Given the description of an element on the screen output the (x, y) to click on. 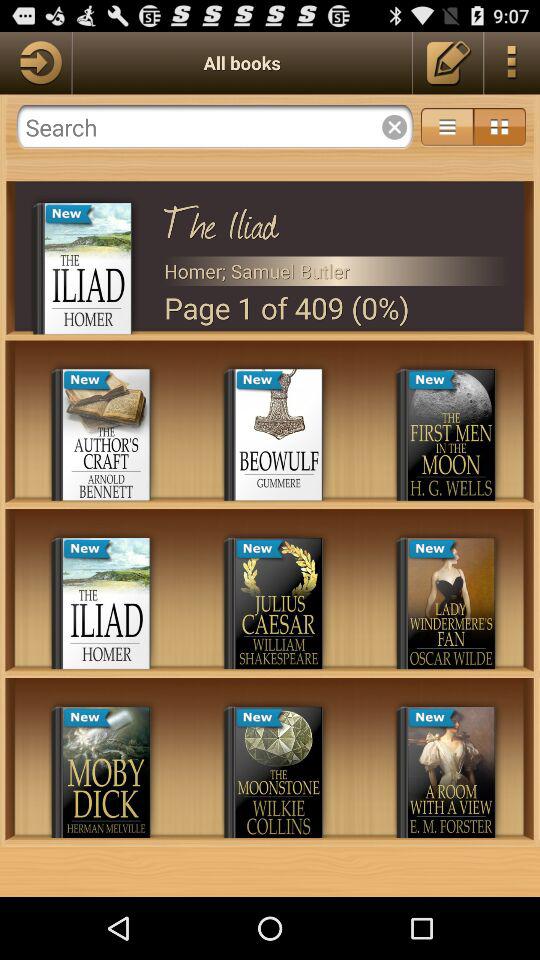
open item below the homer; samuel butler icon (336, 307)
